Given the description of an element on the screen output the (x, y) to click on. 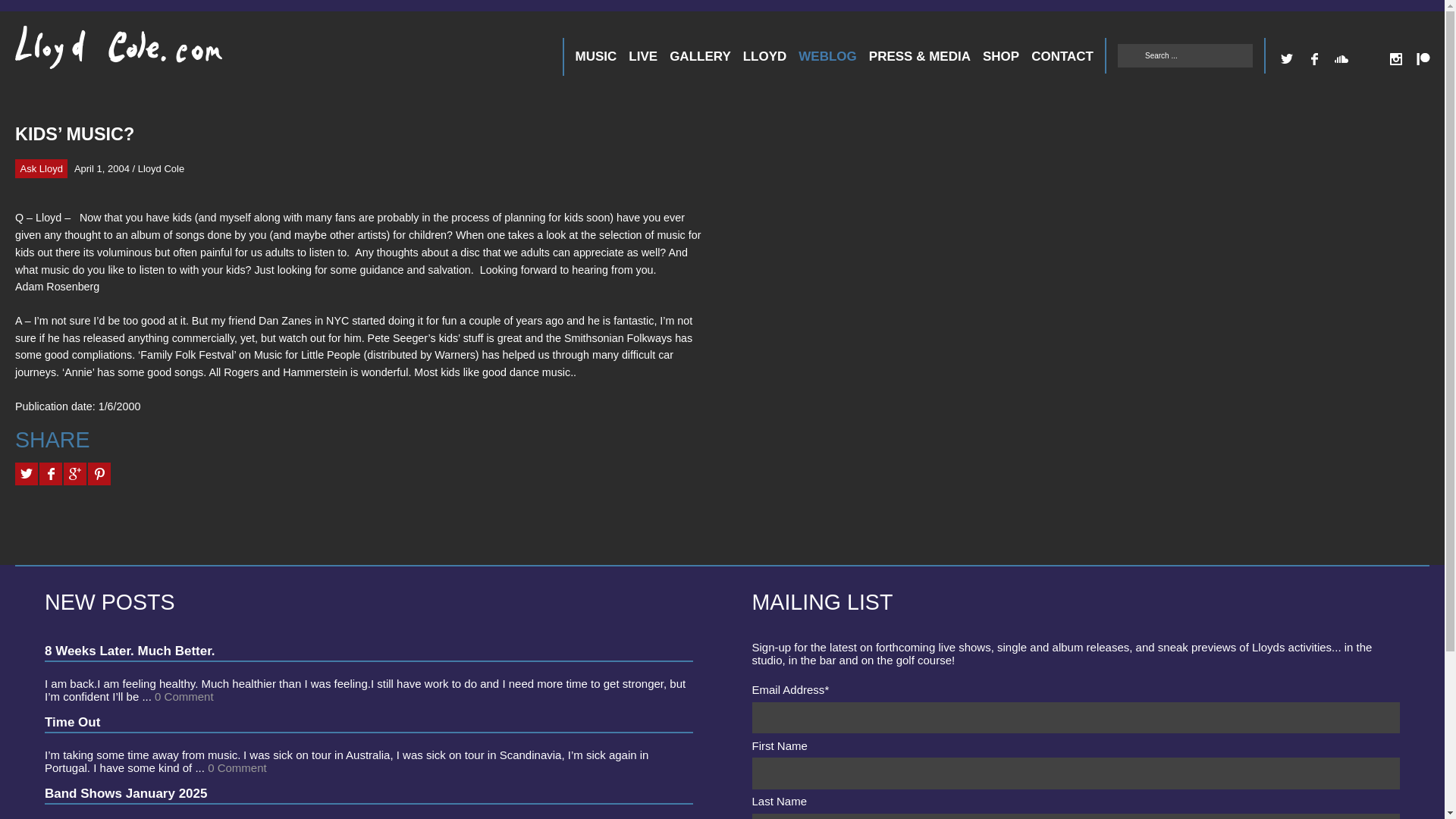
WEBLOG (827, 56)
lloydcole.com (103, 53)
Instagram (1395, 58)
SoundCloud (1341, 58)
Patreon (1423, 58)
CONTACT (1062, 56)
Search ... (1185, 55)
LIVE (643, 56)
8 Weeks Later. Much Better. (130, 650)
Time Out (72, 721)
SHOP (1000, 56)
Tweet This (25, 473)
Search ... (1185, 55)
Ask Lloyd (40, 168)
Pin it (98, 473)
